Given the description of an element on the screen output the (x, y) to click on. 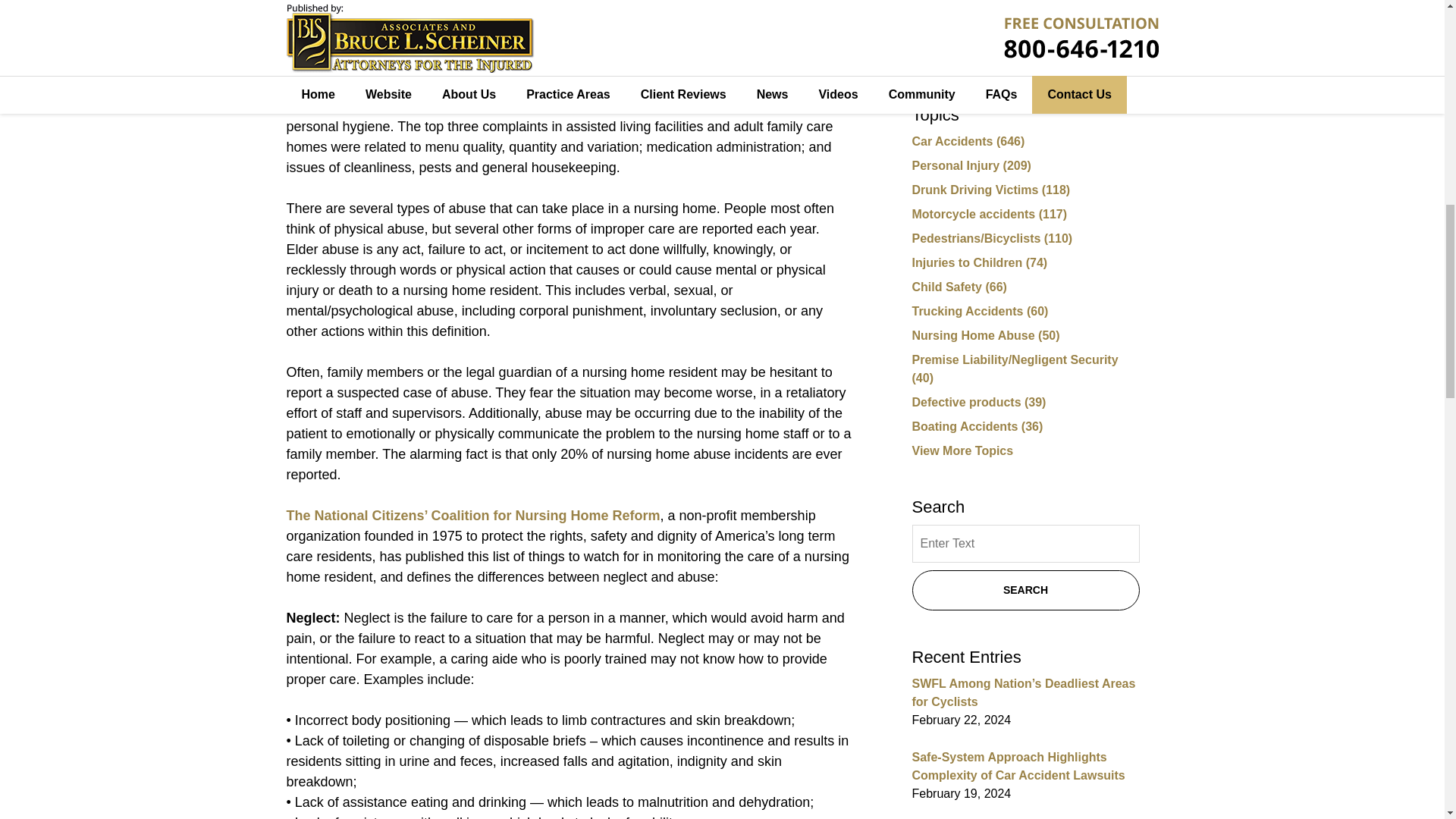
Your Email (1024, 9)
